Given the description of an element on the screen output the (x, y) to click on. 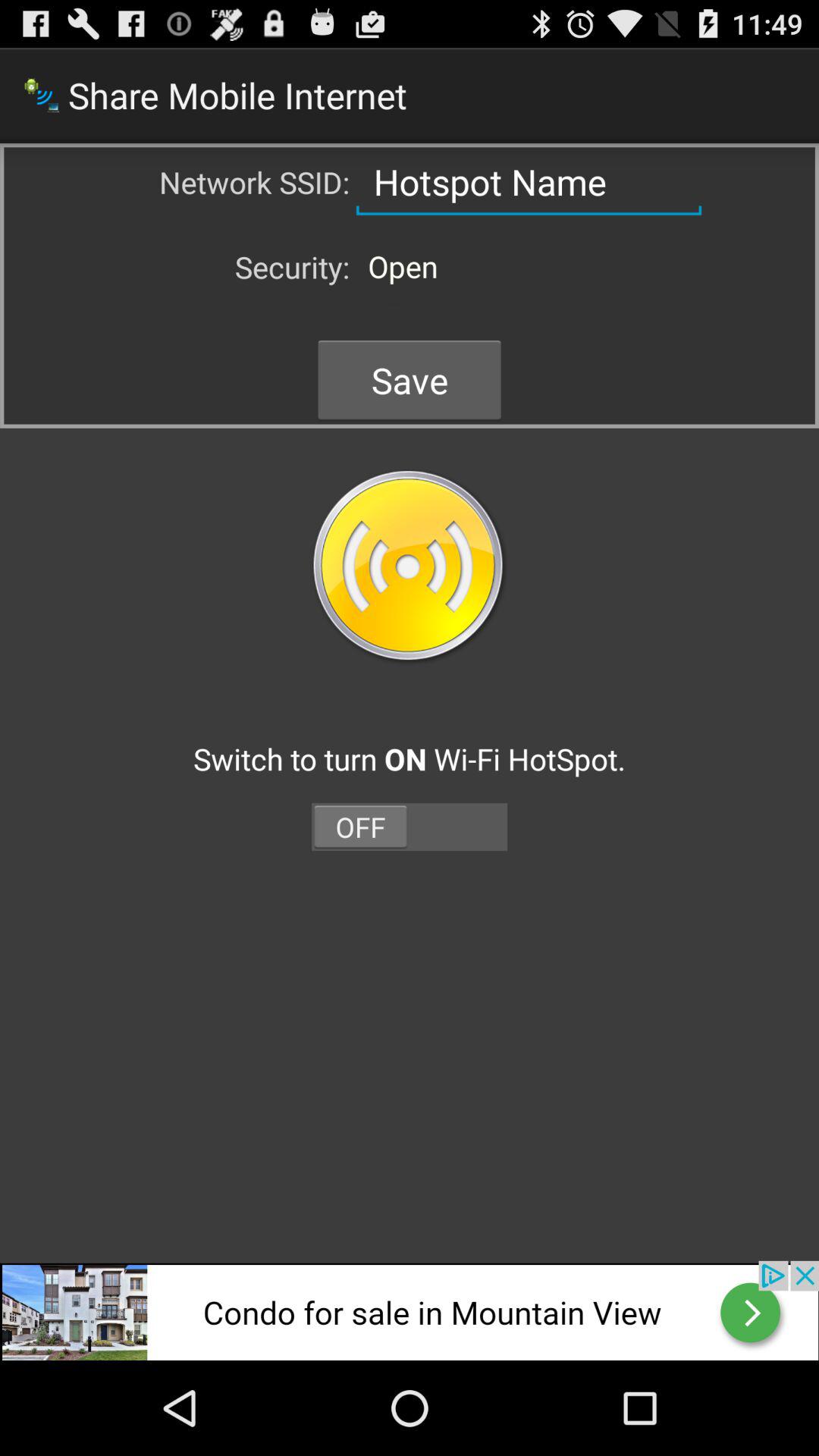
open the advertisements (409, 1310)
